Given the description of an element on the screen output the (x, y) to click on. 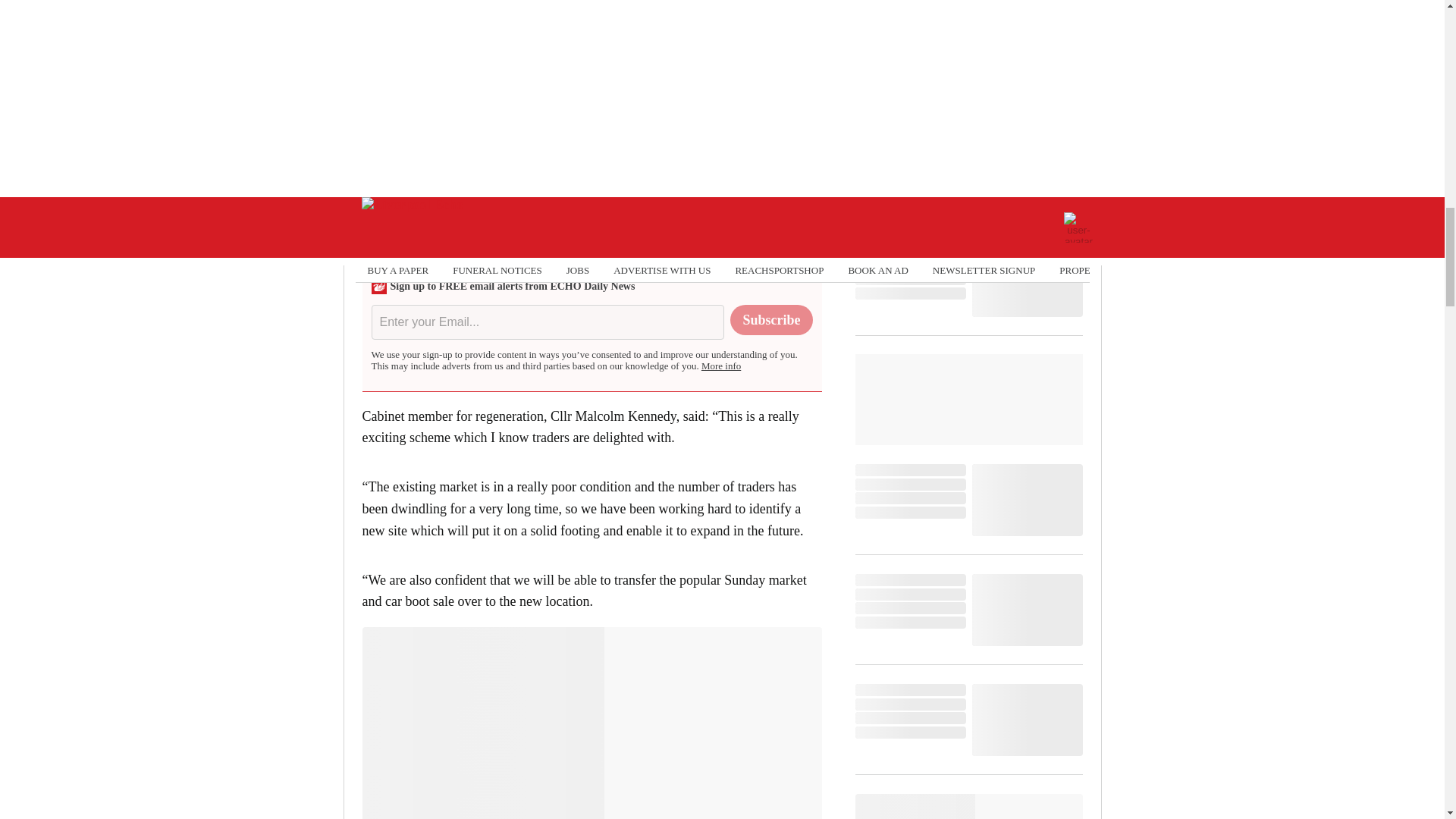
Subscribe (771, 319)
More info (721, 365)
